Given the description of an element on the screen output the (x, y) to click on. 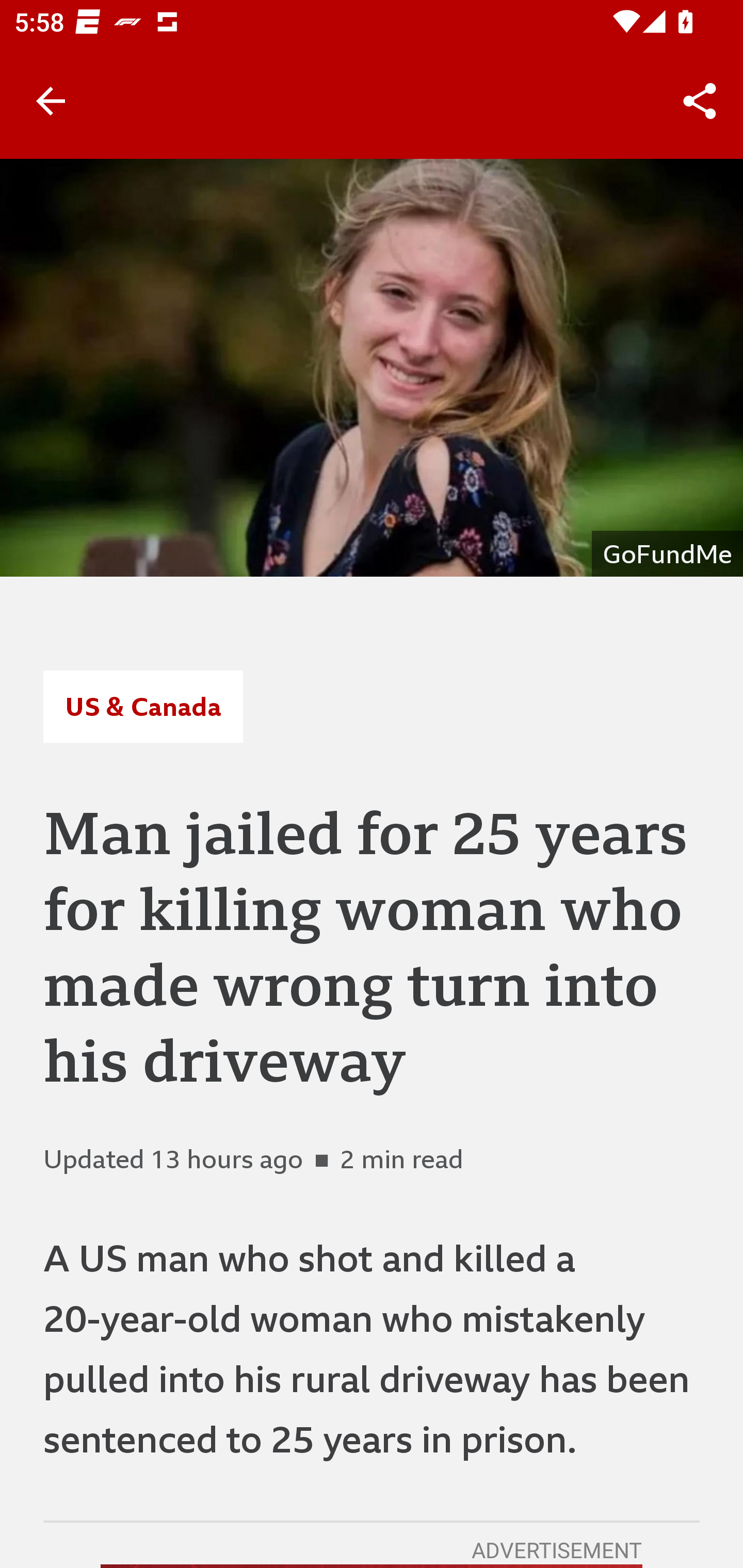
Back (50, 101)
Share (699, 101)
US & Canada (142, 706)
